Given the description of an element on the screen output the (x, y) to click on. 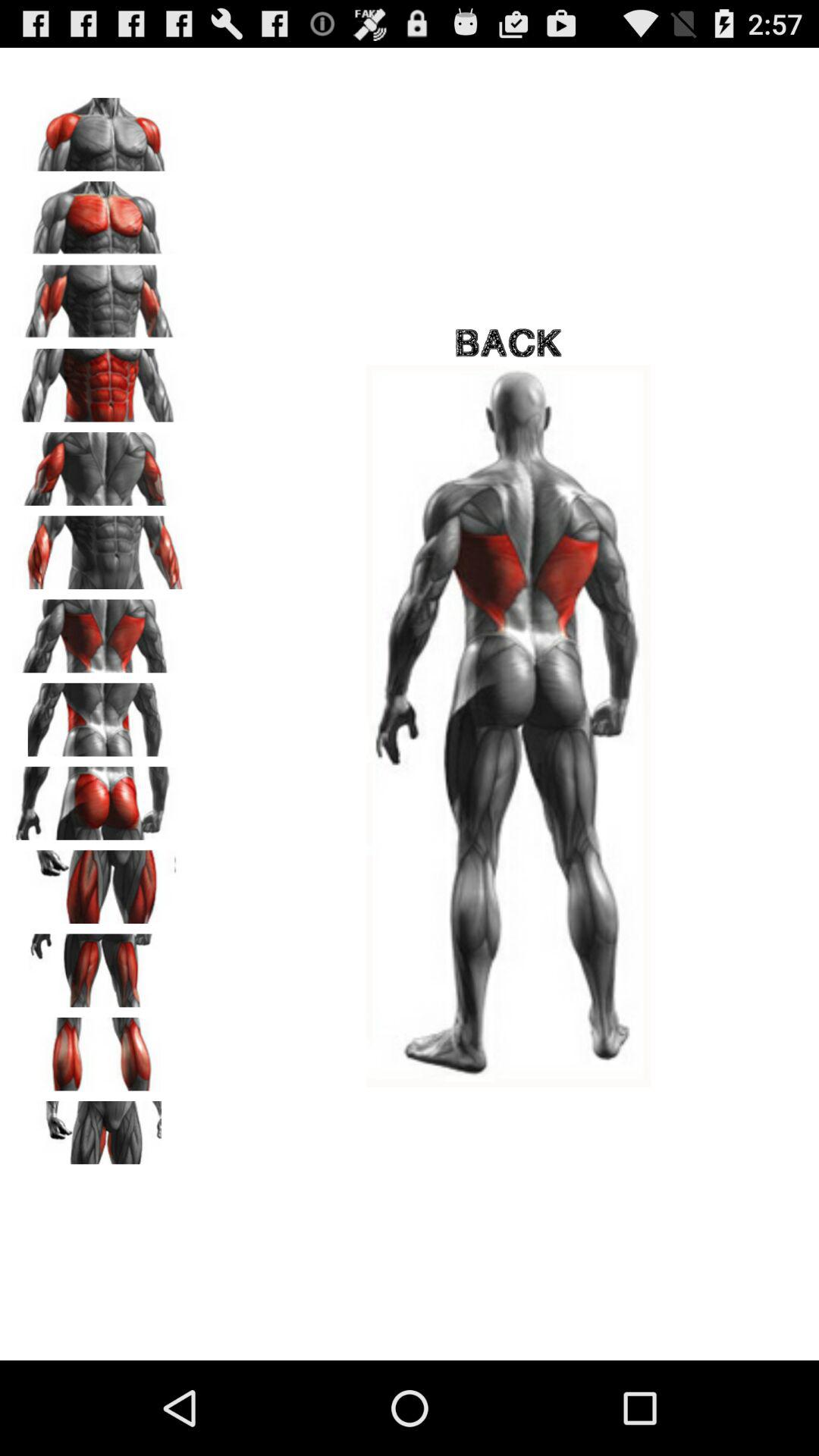
select abs (99, 547)
